Given the description of an element on the screen output the (x, y) to click on. 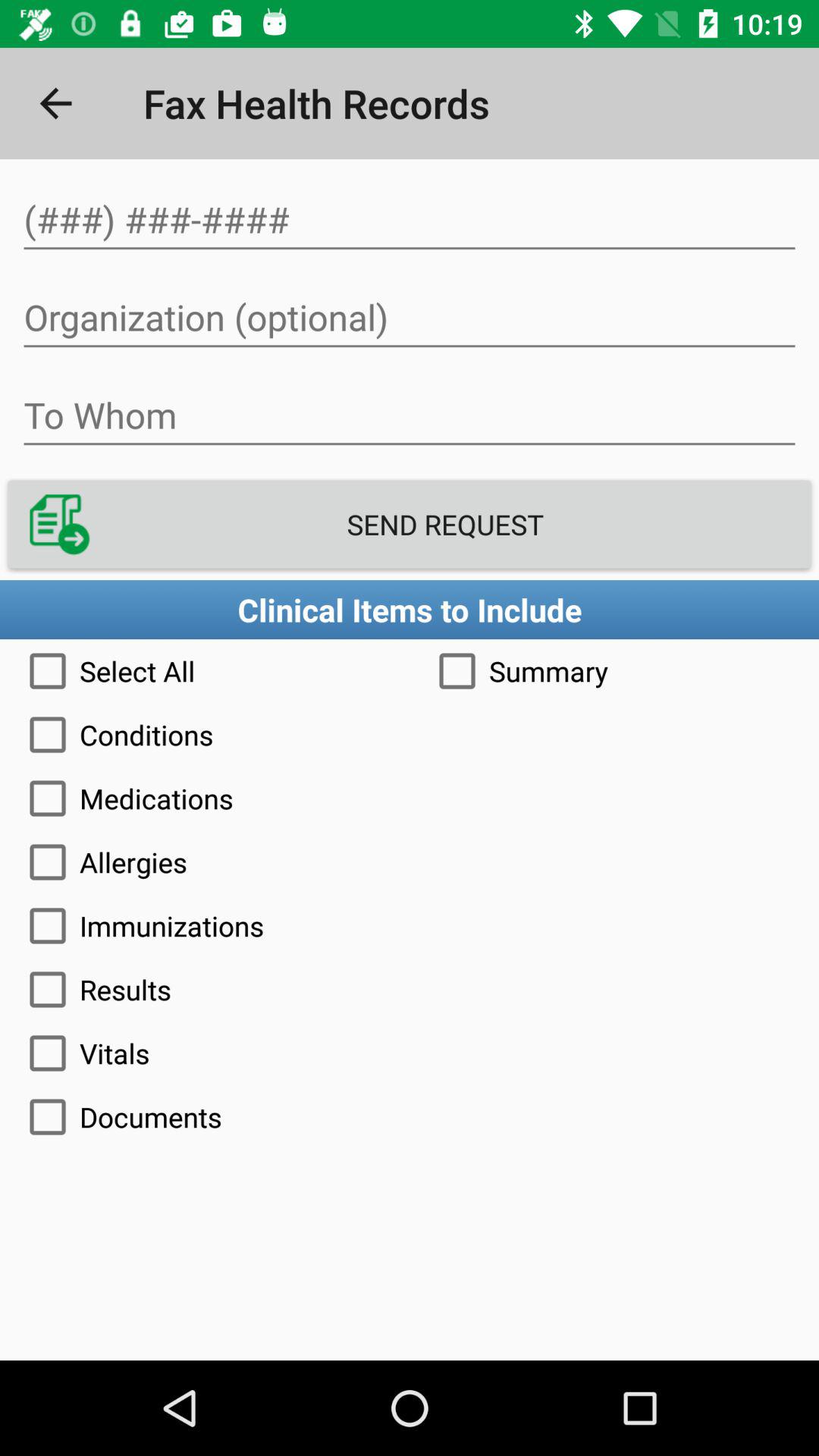
phone number option (409, 220)
